Given the description of an element on the screen output the (x, y) to click on. 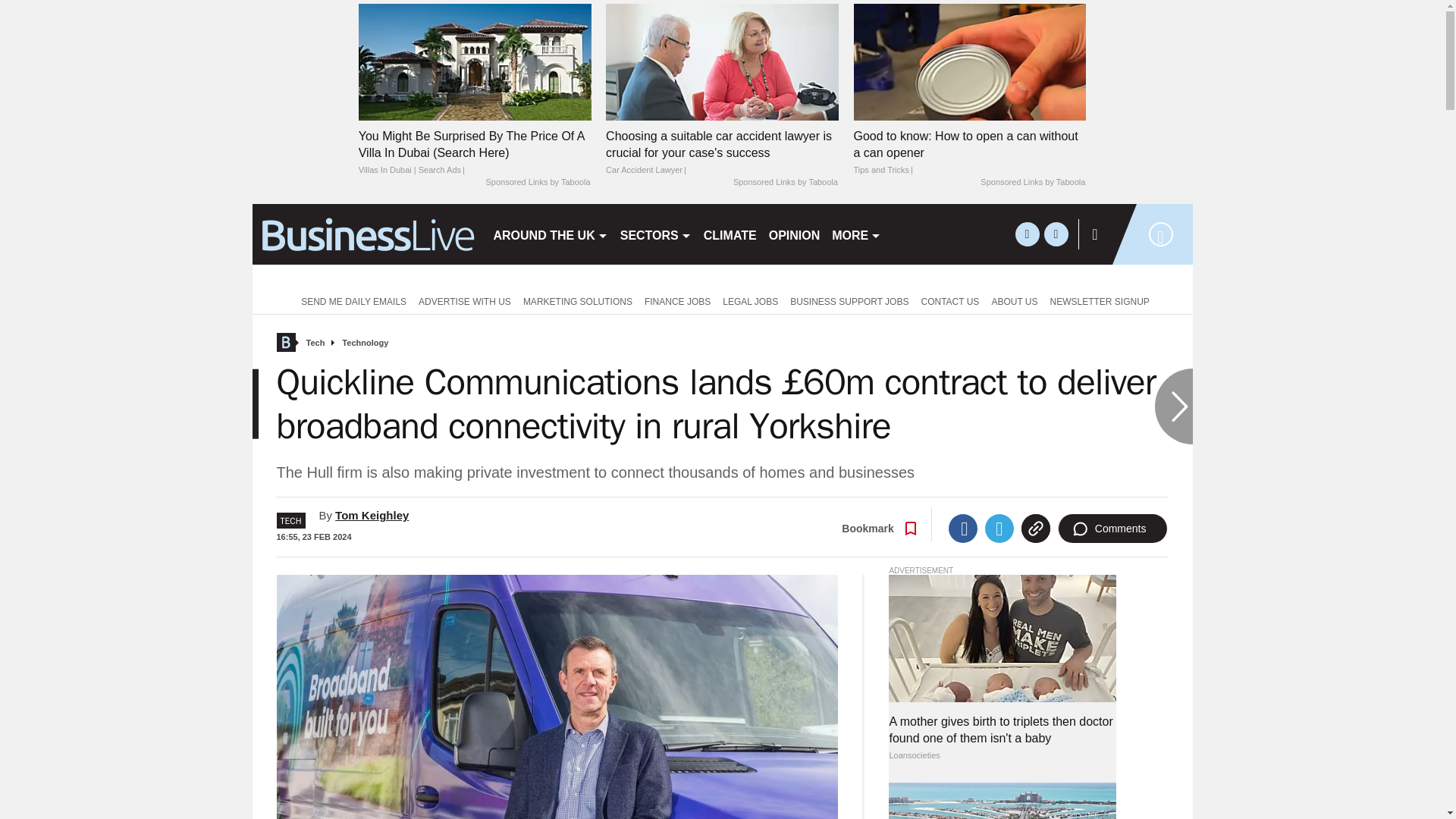
Sponsored Links by Taboola (785, 182)
twitter (1026, 233)
linkedin (1055, 233)
SECTORS (655, 233)
Sponsored Links by Taboola (536, 182)
Comments (1112, 528)
Good to know: How to open a can without a can opener (969, 152)
AROUND THE UK (549, 233)
Facebook (962, 528)
Sponsored Links by Taboola (1031, 182)
Twitter (999, 528)
birminghampost (365, 233)
